Given the description of an element on the screen output the (x, y) to click on. 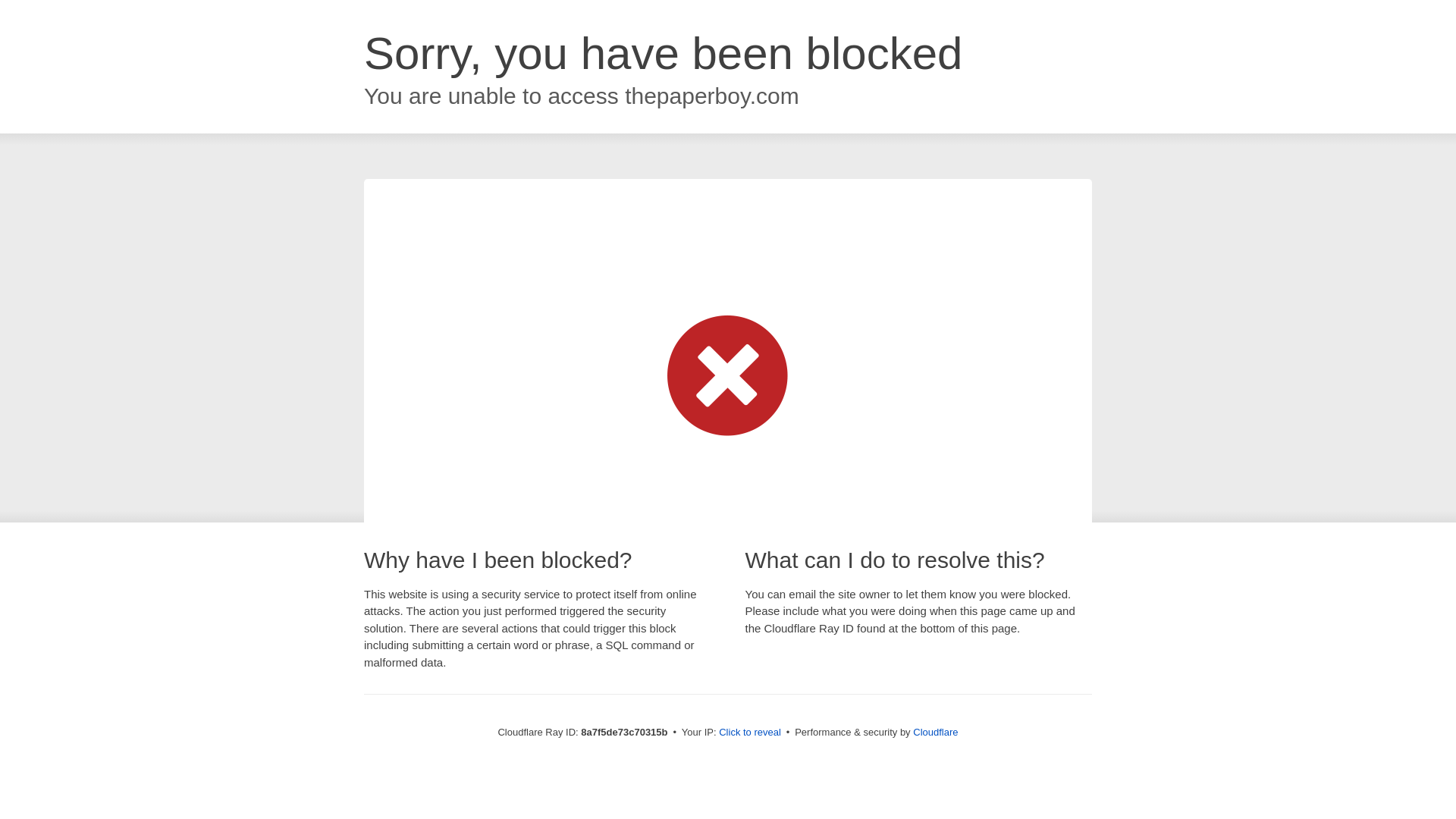
Cloudflare (935, 731)
Click to reveal (749, 732)
